Given the description of an element on the screen output the (x, y) to click on. 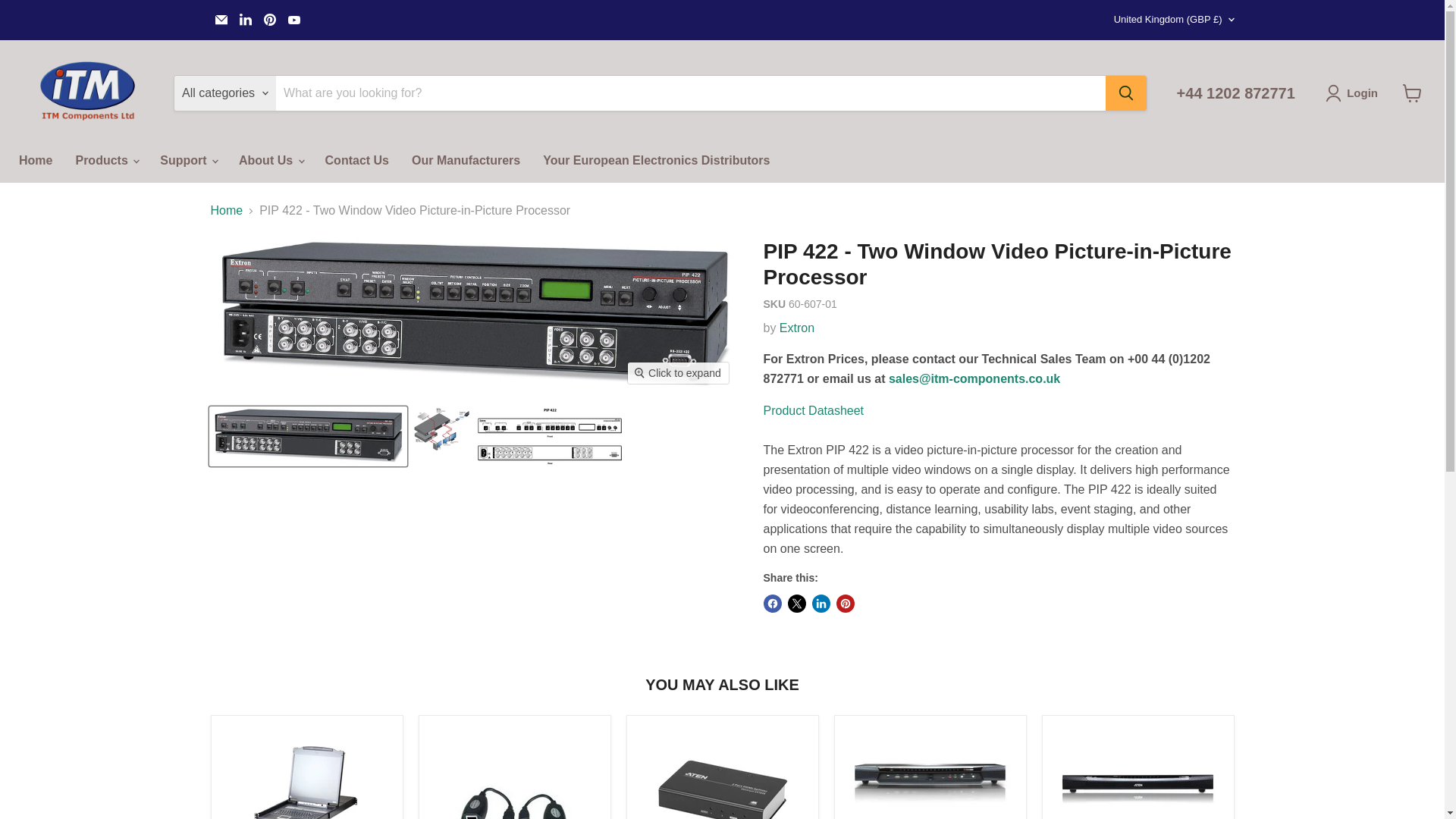
Find us on LinkedIn (245, 19)
Find us on Pinterest (270, 19)
Email (221, 19)
Email ITM Components (221, 19)
LinkedIn (245, 19)
YouTube (293, 19)
Pinterest (270, 19)
Find us on YouTube (293, 19)
Extron (795, 327)
